Given the description of an element on the screen output the (x, y) to click on. 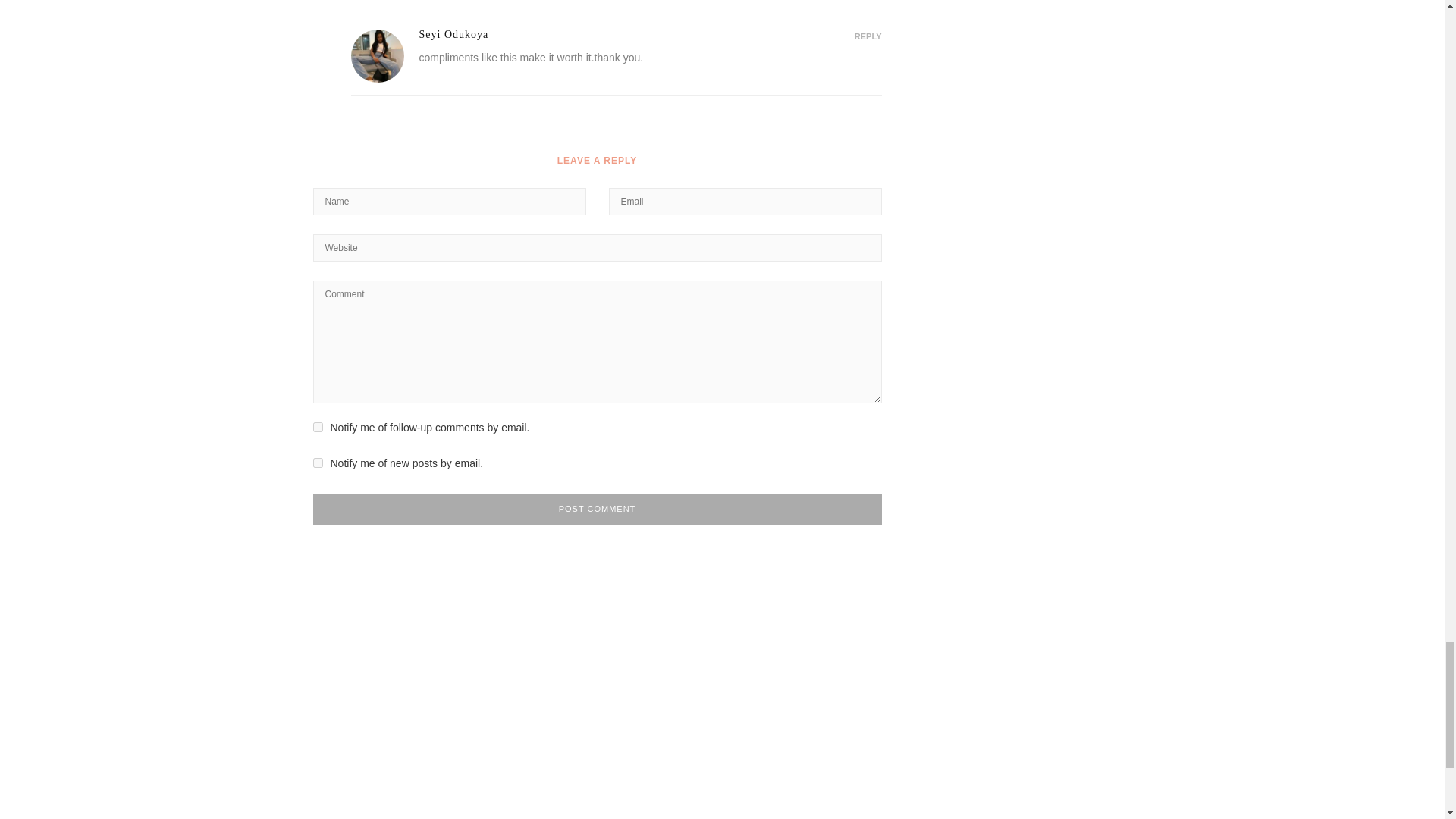
subscribe (317, 462)
subscribe (317, 427)
Post Comment (596, 508)
